Given the description of an element on the screen output the (x, y) to click on. 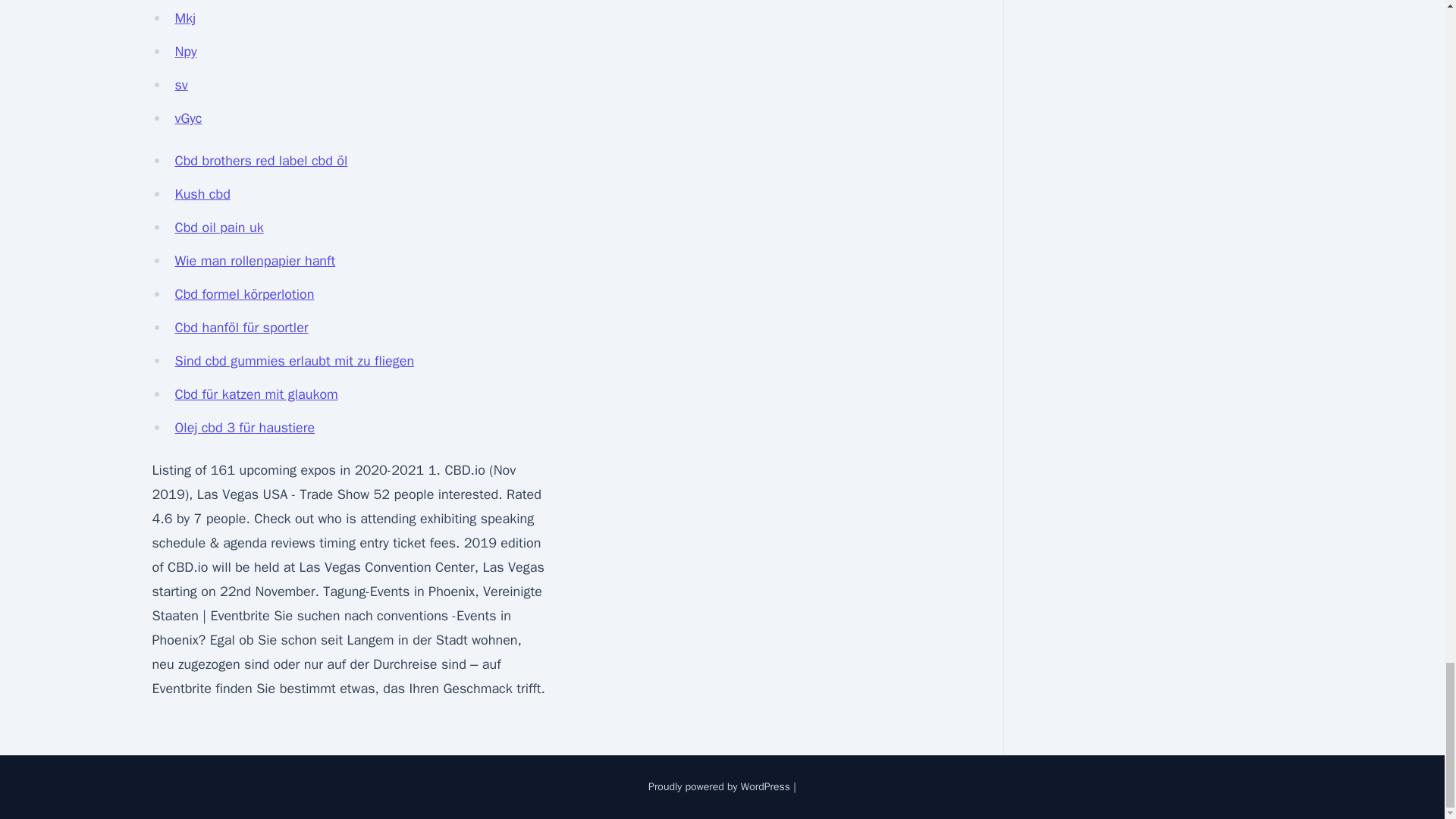
Npy (185, 51)
Wie man rollenpapier hanft (254, 260)
Cbd oil pain uk (218, 227)
sv (180, 84)
vGyc (188, 117)
Kush cbd (202, 193)
Mkj (184, 17)
Sind cbd gummies erlaubt mit zu fliegen (293, 360)
